Given the description of an element on the screen output the (x, y) to click on. 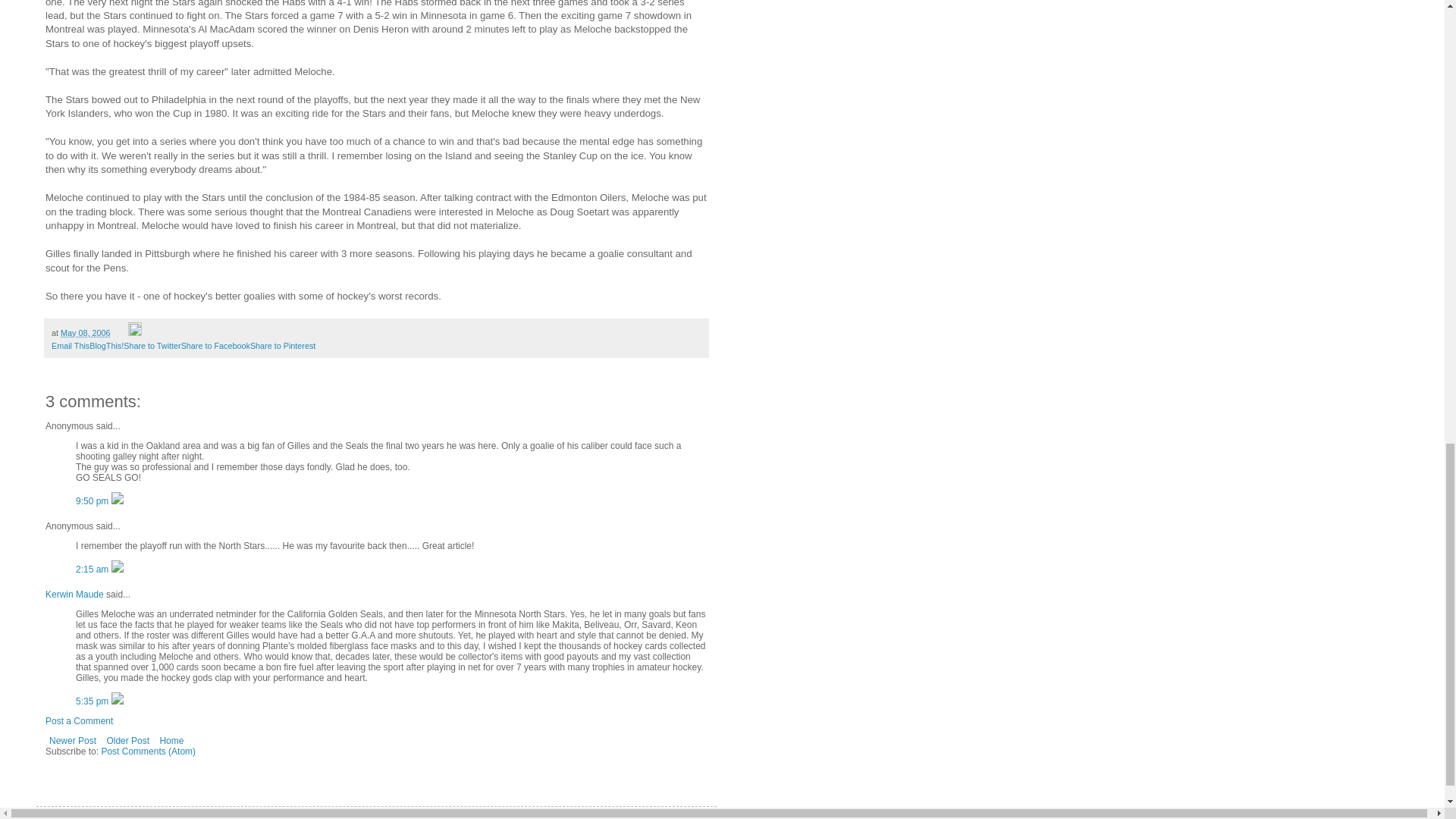
Share to Facebook (215, 345)
Delete Comment (117, 701)
Delete Comment (117, 569)
comment permalink (93, 569)
BlogThis! (105, 345)
May 08, 2006 (85, 332)
permanent link (85, 332)
Share to Facebook (215, 345)
comment permalink (93, 701)
Share to Twitter (151, 345)
Email This (69, 345)
9:50 pm (93, 501)
Edit Post (134, 332)
Email This (69, 345)
Share to Pinterest (282, 345)
